Given the description of an element on the screen output the (x, y) to click on. 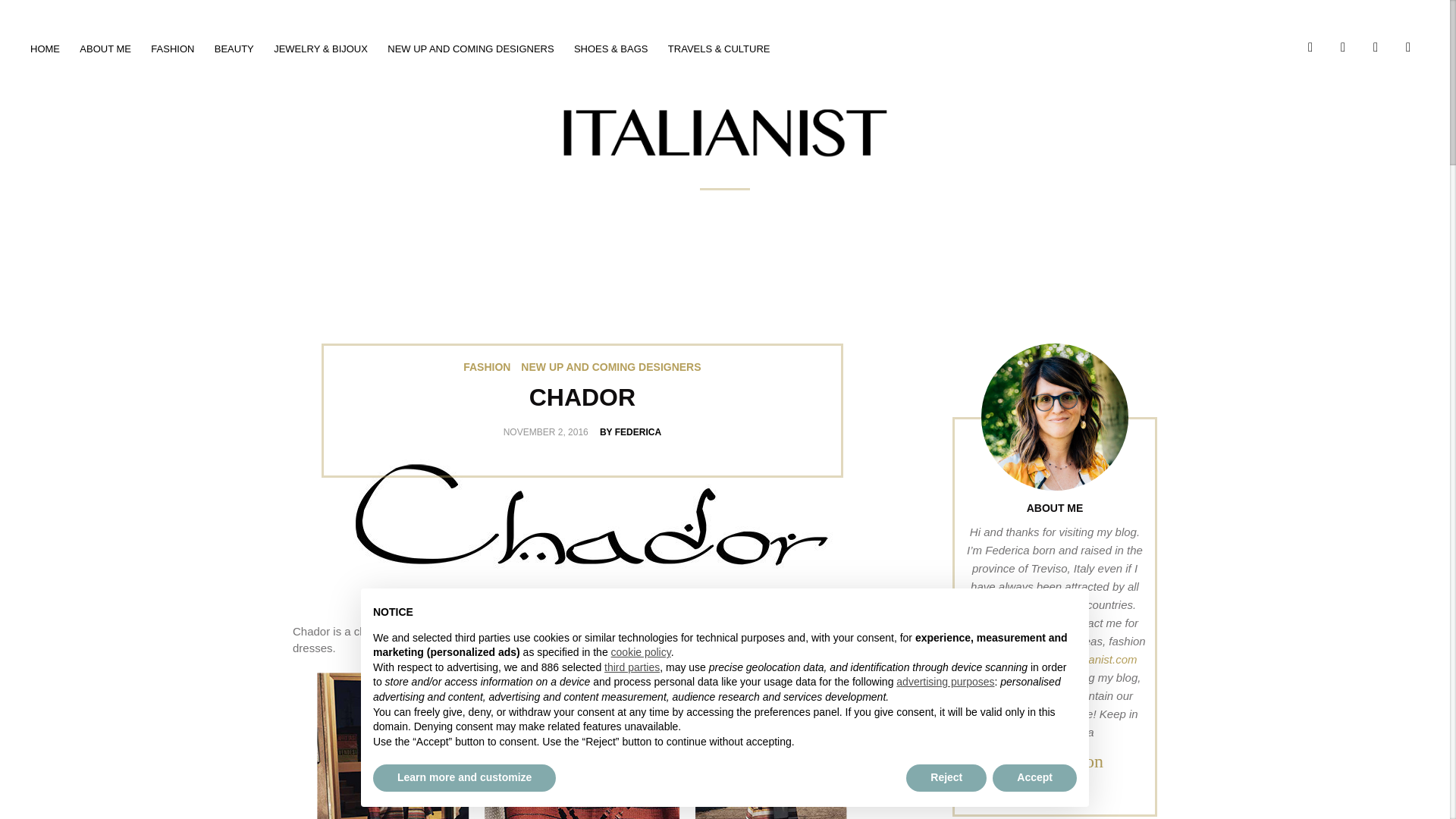
ABOUT ME (105, 48)
FASHION (487, 366)
HOME (45, 48)
FASHION (172, 48)
NEW UP AND COMING DESIGNERS (470, 48)
BEAUTY (234, 48)
